Given the description of an element on the screen output the (x, y) to click on. 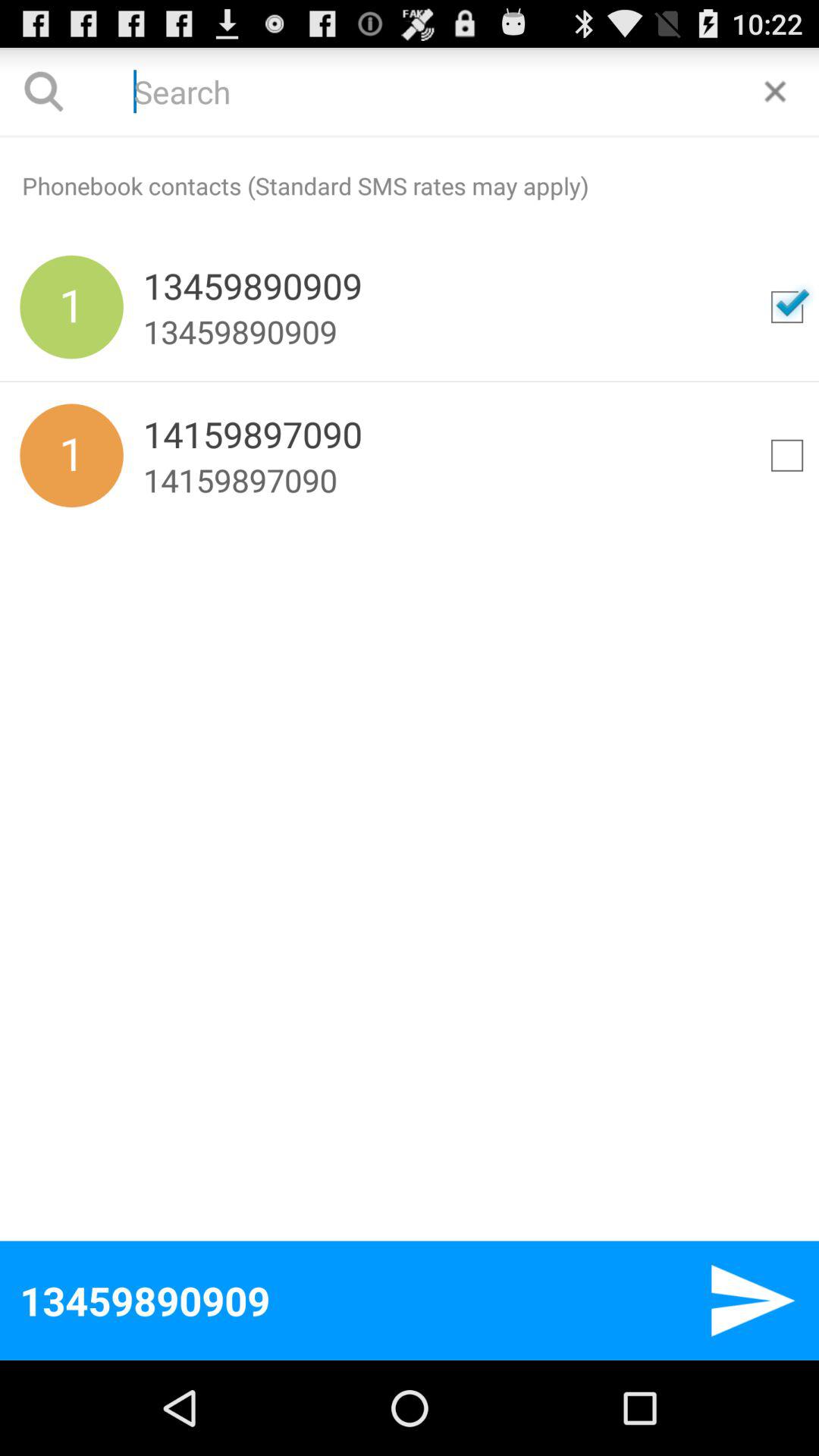
select contacts button (787, 455)
